Given the description of an element on the screen output the (x, y) to click on. 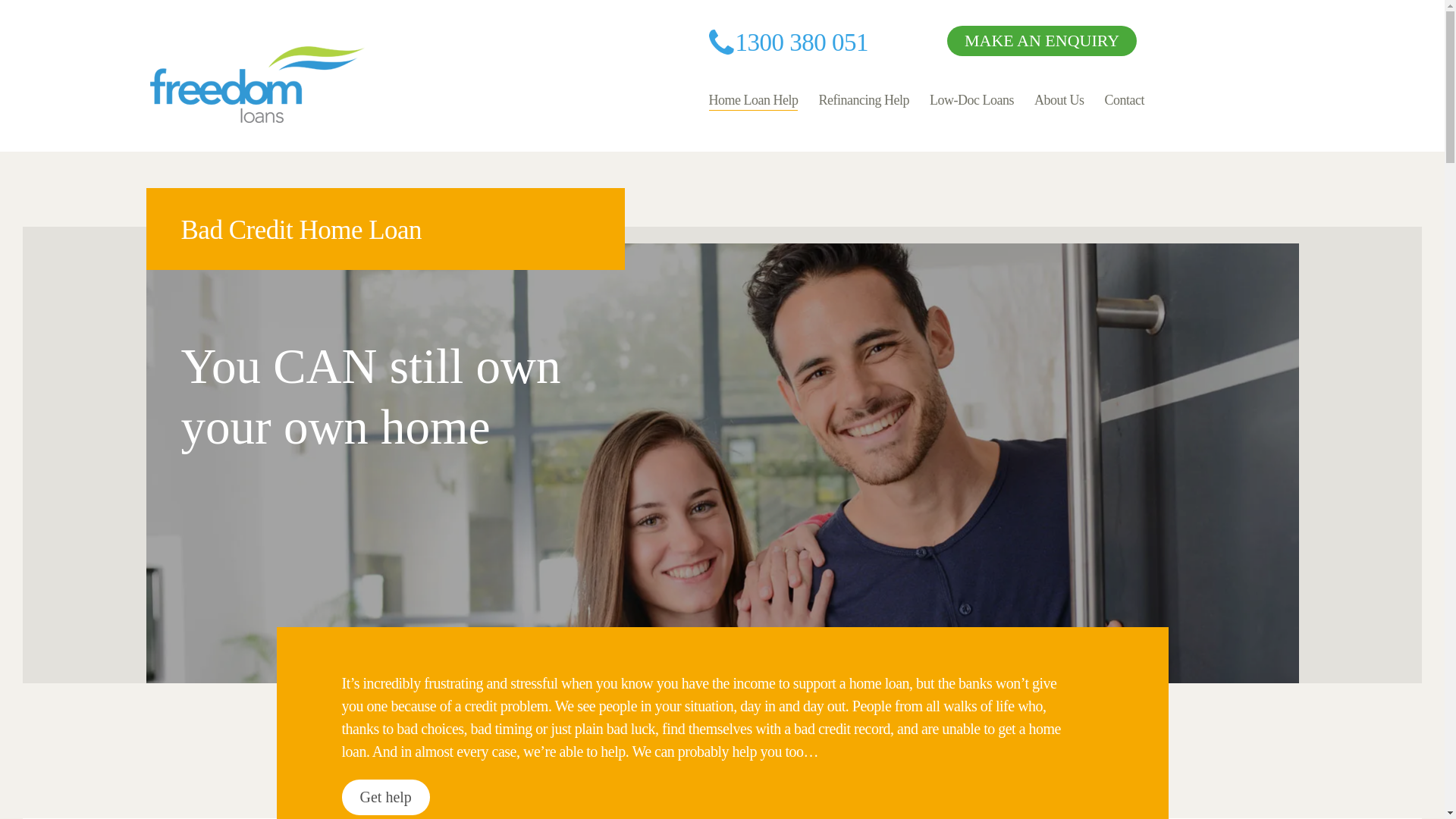
Get help (384, 796)
Contact (1123, 100)
1300 380 051 (789, 36)
MAKE AN ENQUIRY (1042, 40)
Low-Doc Loans (971, 100)
About Us (1058, 100)
Refinancing Help (863, 100)
Home Loan Help (753, 100)
